Given the description of an element on the screen output the (x, y) to click on. 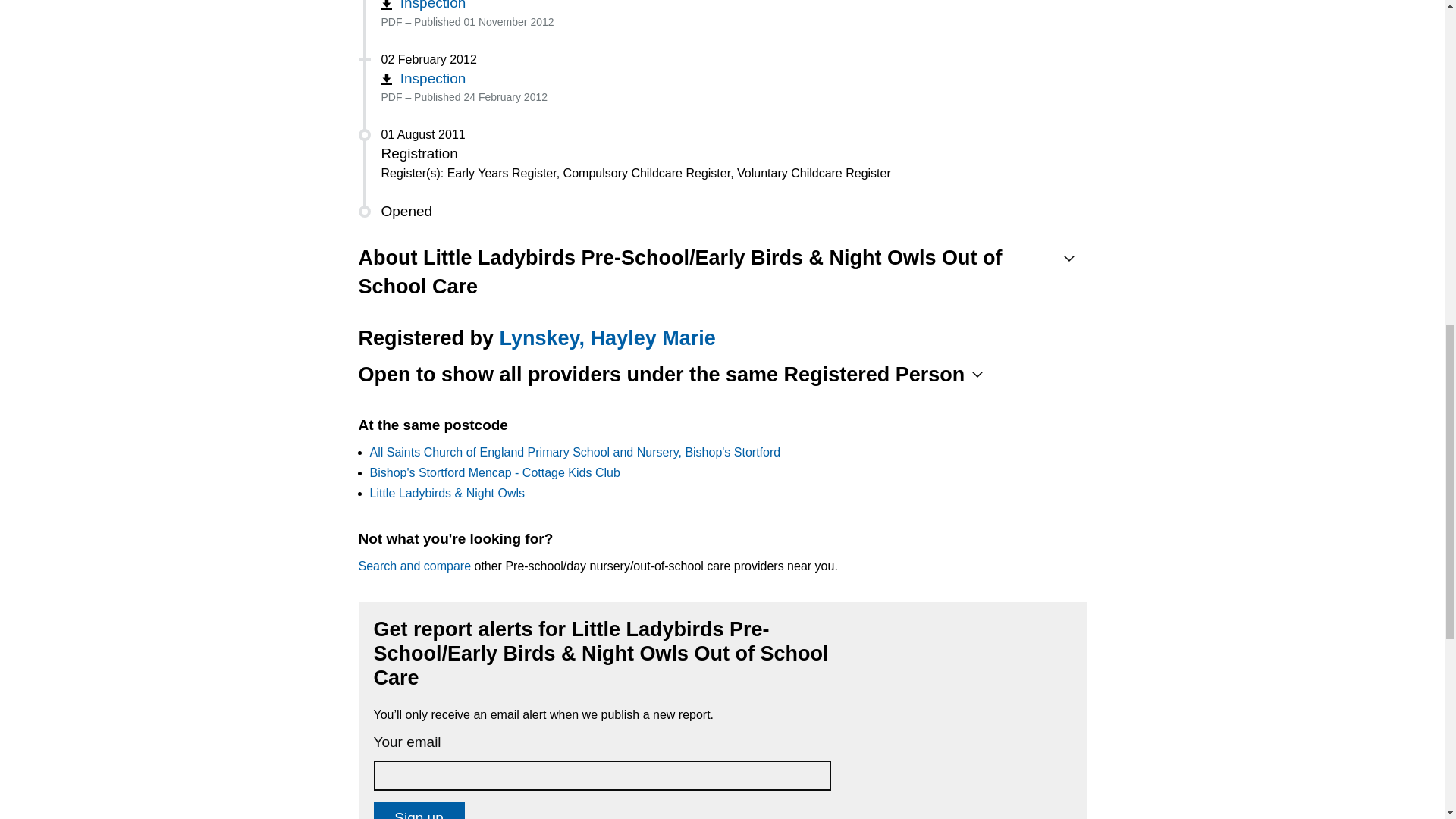
Inspection (422, 5)
Search and compare (414, 565)
Inspection (422, 78)
Lynskey, Hayley Marie (607, 337)
Sign up (418, 810)
Bishop's Stortford Mencap - Cottage Kids Club (494, 472)
